Given the description of an element on the screen output the (x, y) to click on. 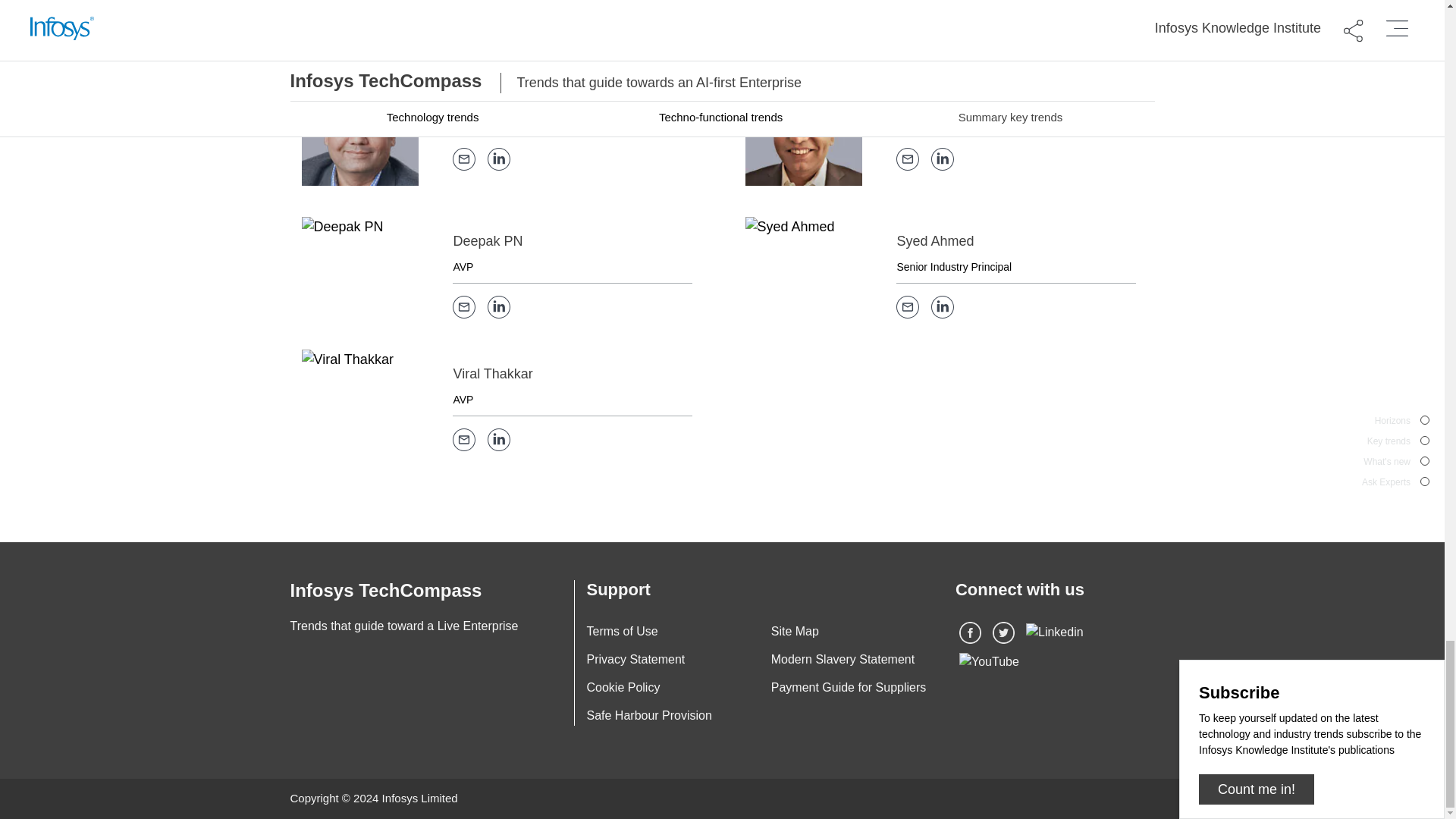
Facebook (970, 631)
YouTube (989, 661)
Twitter (1003, 632)
Privacy Statement (635, 658)
Payment Guide for Suppliers (848, 686)
Twitter (1003, 631)
LinkedIn (1054, 631)
Cookie Policy (622, 686)
Site Map (794, 631)
Modern Slavery Statement (842, 658)
